Given the description of an element on the screen output the (x, y) to click on. 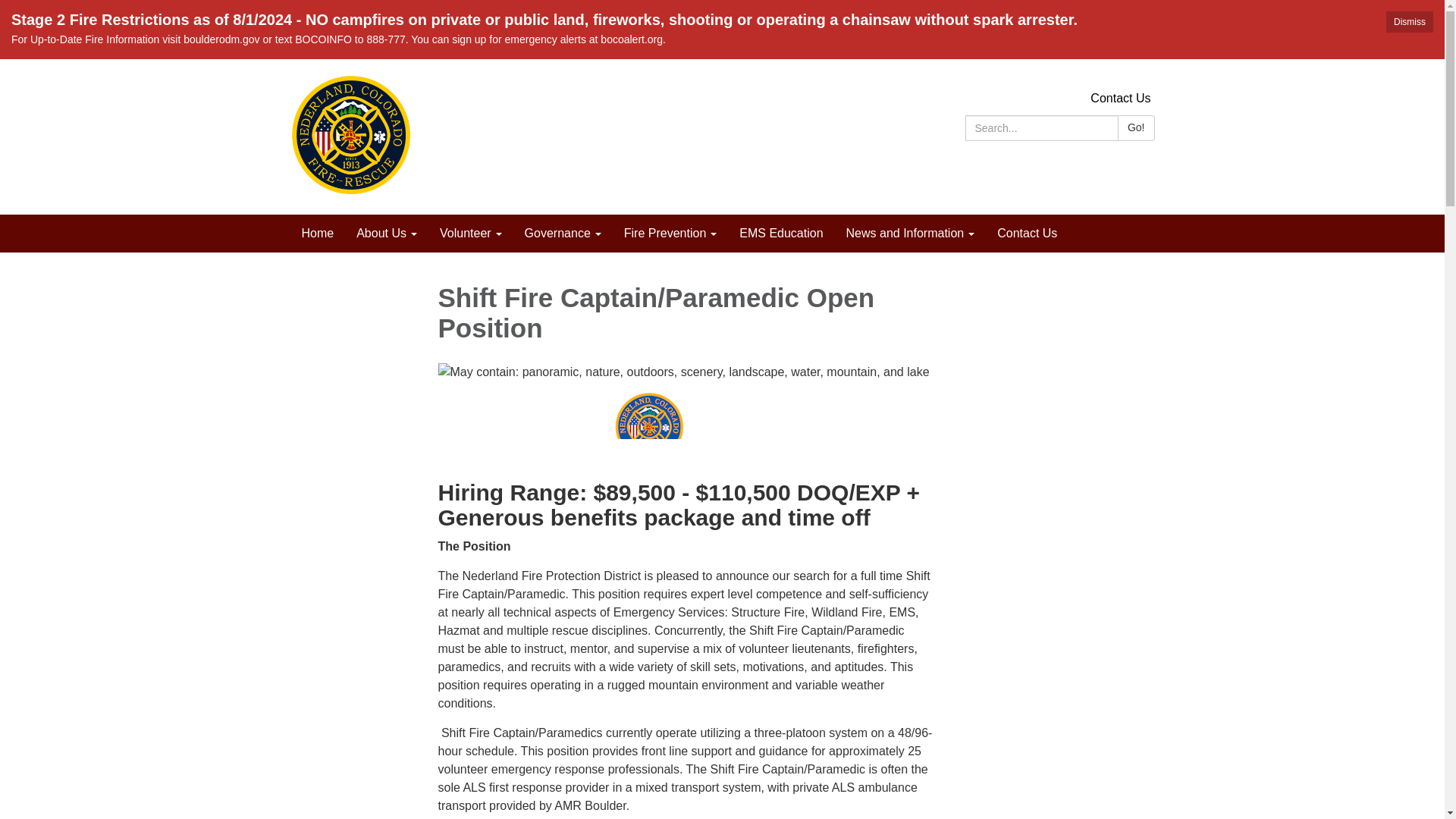
Governance (562, 233)
Contact Us (1119, 97)
Dismiss (1409, 21)
Fire Prevention (670, 233)
Home (317, 233)
About Us (386, 233)
Go! (1136, 127)
Volunteer (470, 233)
